Given the description of an element on the screen output the (x, y) to click on. 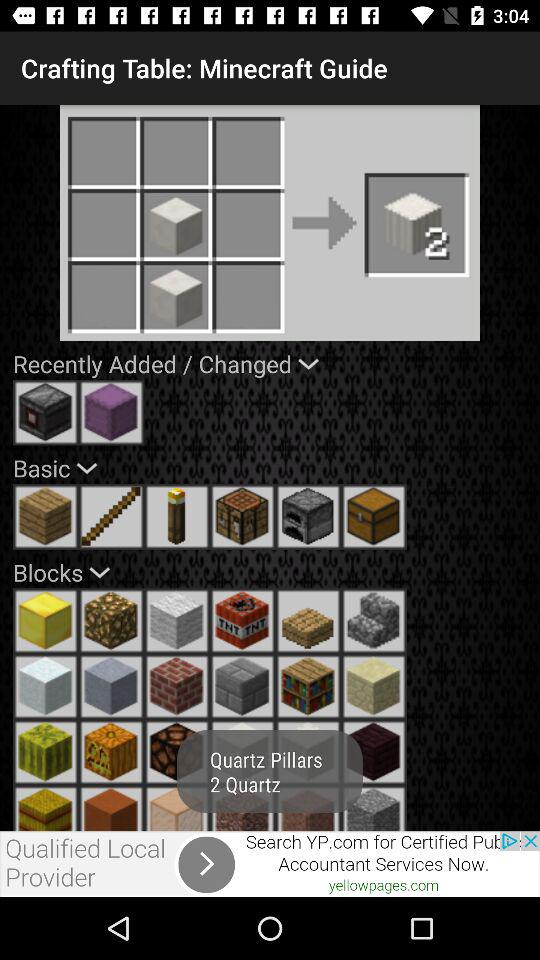
pick the option (308, 752)
